Given the description of an element on the screen output the (x, y) to click on. 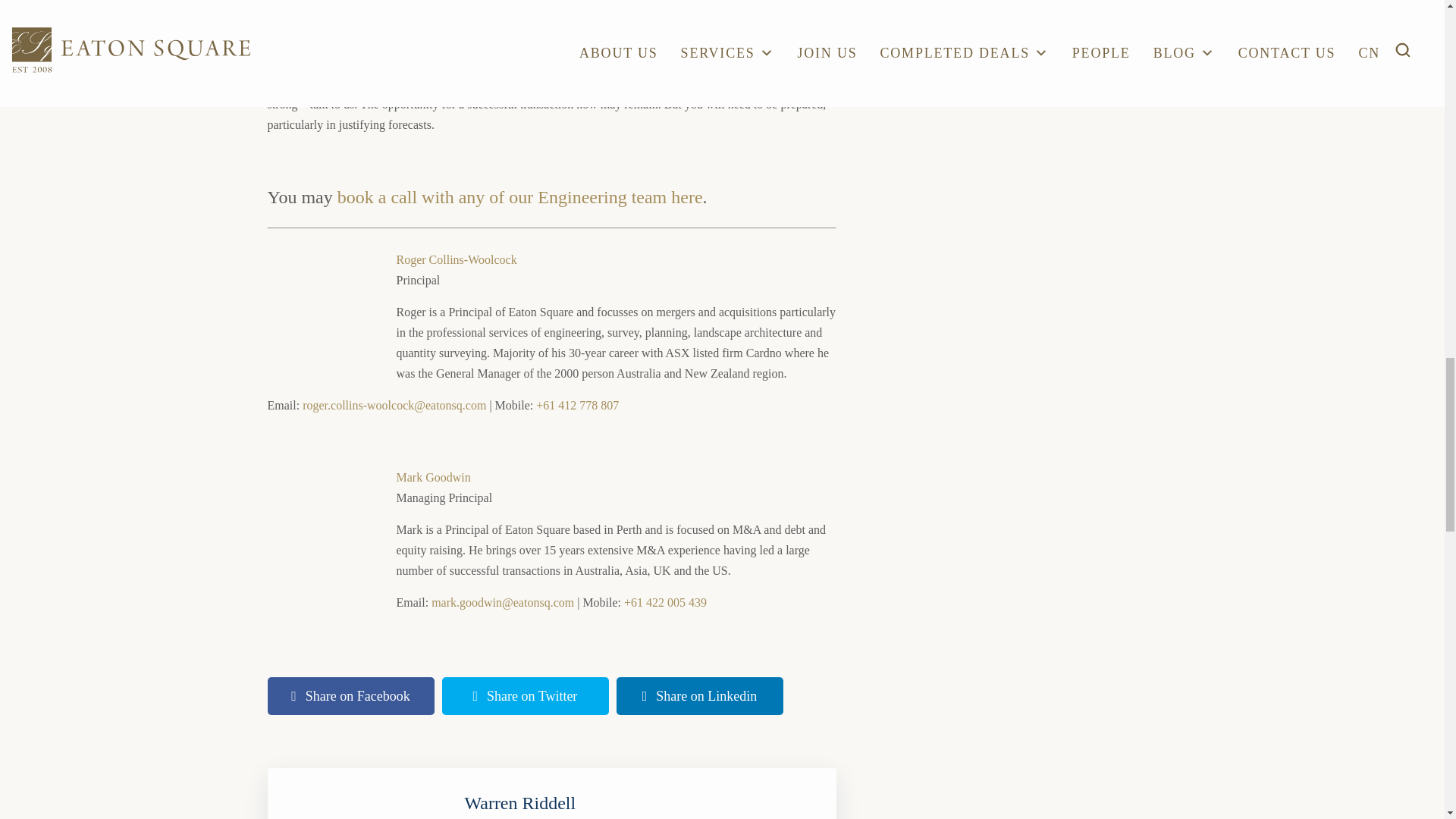
Share on Facebook (349, 695)
Warren Riddell (519, 803)
Mark Goodwin (433, 477)
book a call with any of our Engineering team here (520, 197)
Share on Linkedin (699, 695)
Roger Collins-Woolcock (456, 259)
Share on Twitter (524, 695)
